Given the description of an element on the screen output the (x, y) to click on. 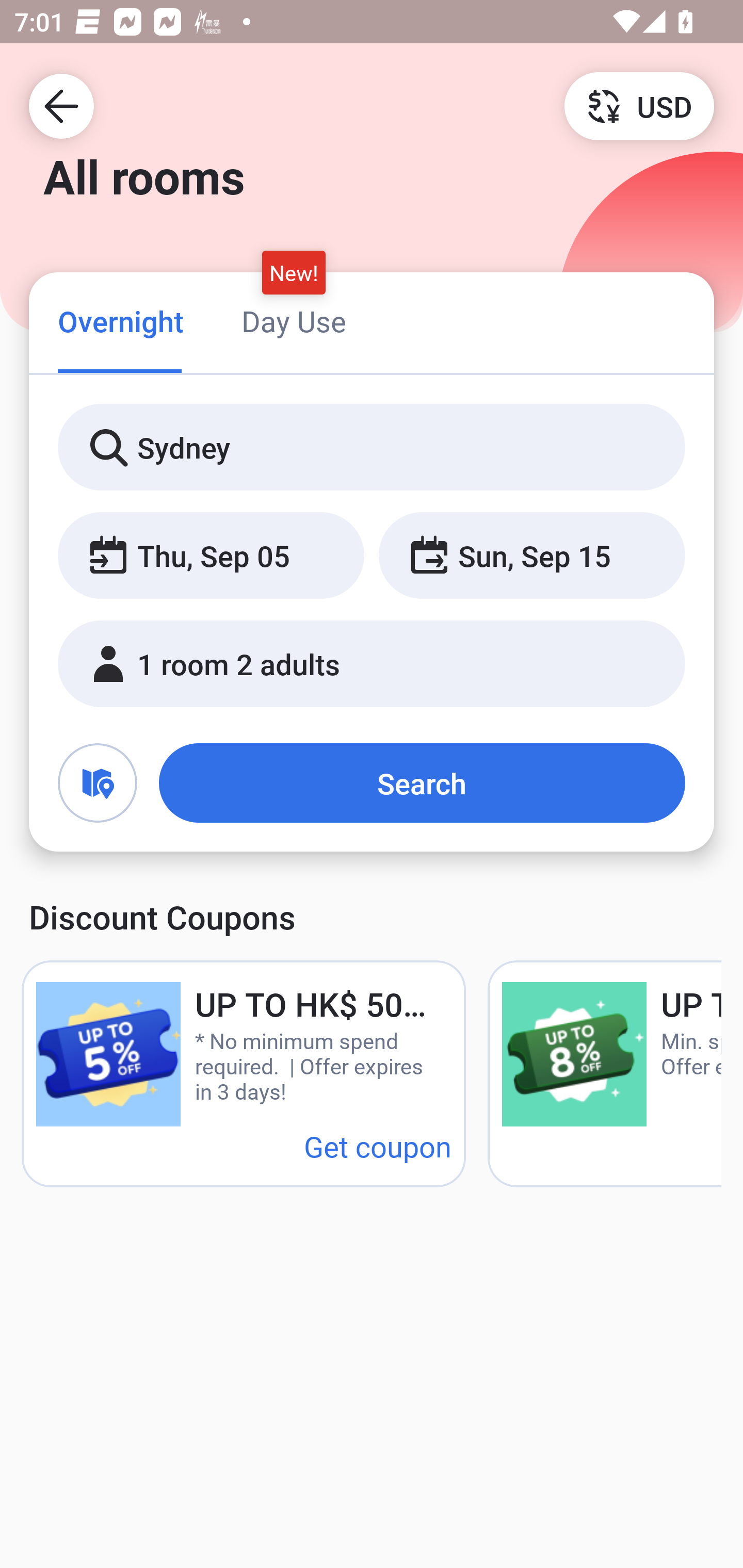
USD (639, 105)
New! (294, 272)
Day Use (293, 321)
Sydney (371, 447)
Thu, Sep 05 (210, 555)
Sun, Sep 15 (531, 555)
1 room 2 adults (371, 663)
Search (422, 783)
Get coupon (377, 1146)
